Given the description of an element on the screen output the (x, y) to click on. 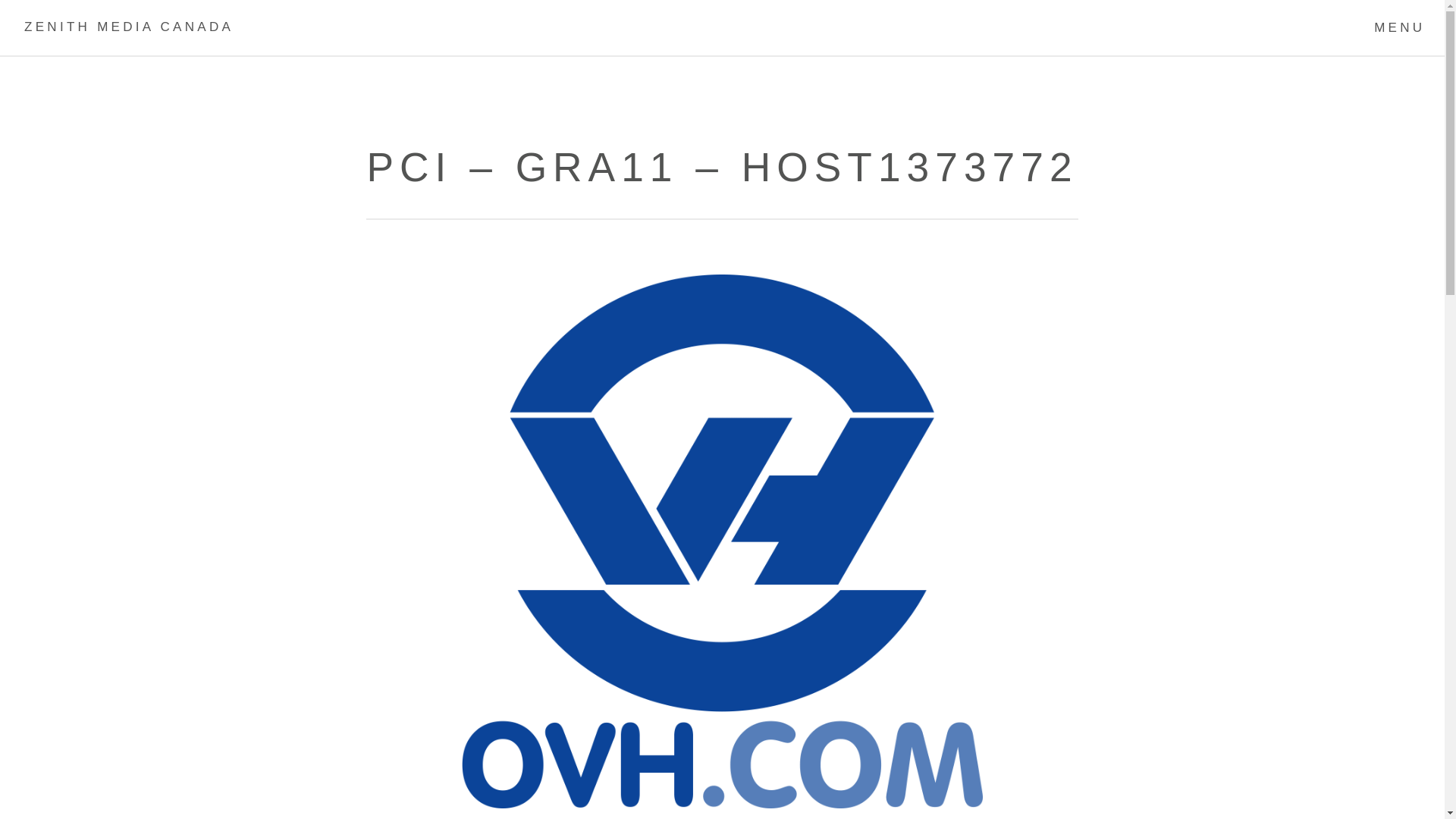
ZENITH MEDIA CANADA (128, 28)
